Given the description of an element on the screen output the (x, y) to click on. 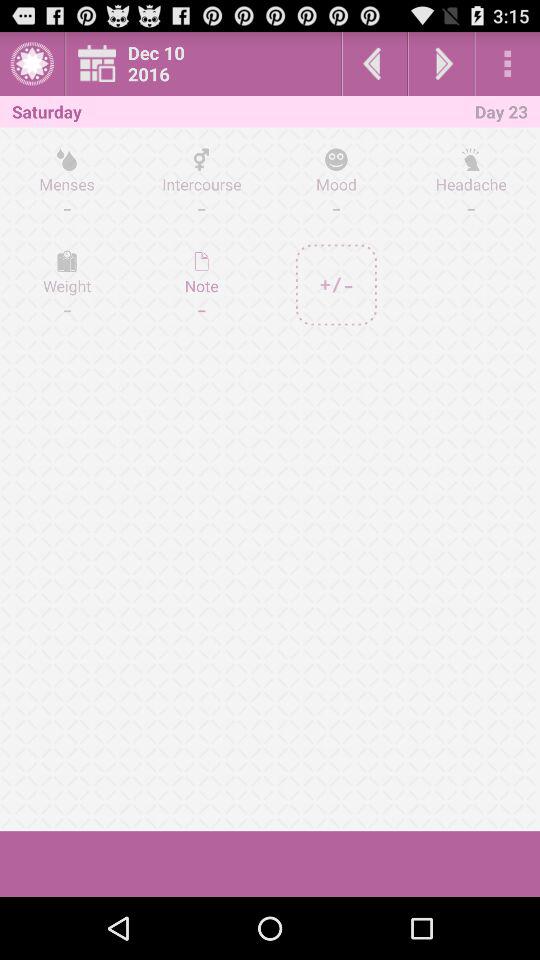
select the app below the saturday app (67, 183)
